Given the description of an element on the screen output the (x, y) to click on. 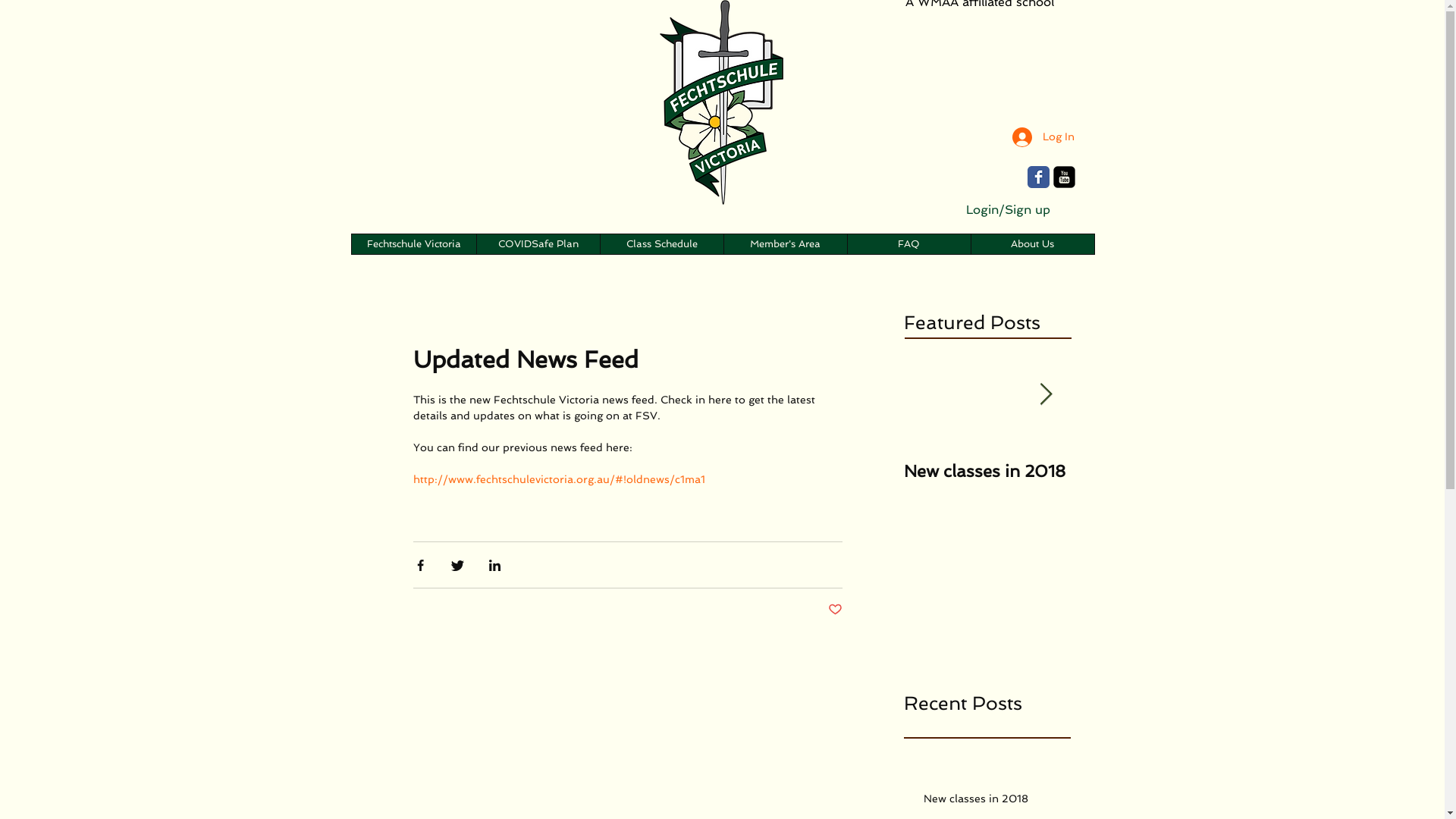
http://www.fechtschulevictoria.org.au/#!oldnews/c1ma1 Element type: text (558, 479)
About Us Element type: text (1032, 244)
Updated News Feed Element type: text (1153, 470)
Post not marked as liked Element type: text (835, 610)
FAQ Element type: text (907, 244)
Class Schedule Element type: text (660, 244)
Fechtschule Victoria Element type: text (413, 244)
Member's Area Element type: text (785, 244)
New classes in 2018 Element type: text (986, 470)
New classes in 2018 Element type: text (992, 801)
COVIDSafe Plan Element type: text (537, 244)
Login/Sign up Element type: text (1008, 210)
Log In Element type: text (1042, 136)
